Given the description of an element on the screen output the (x, y) to click on. 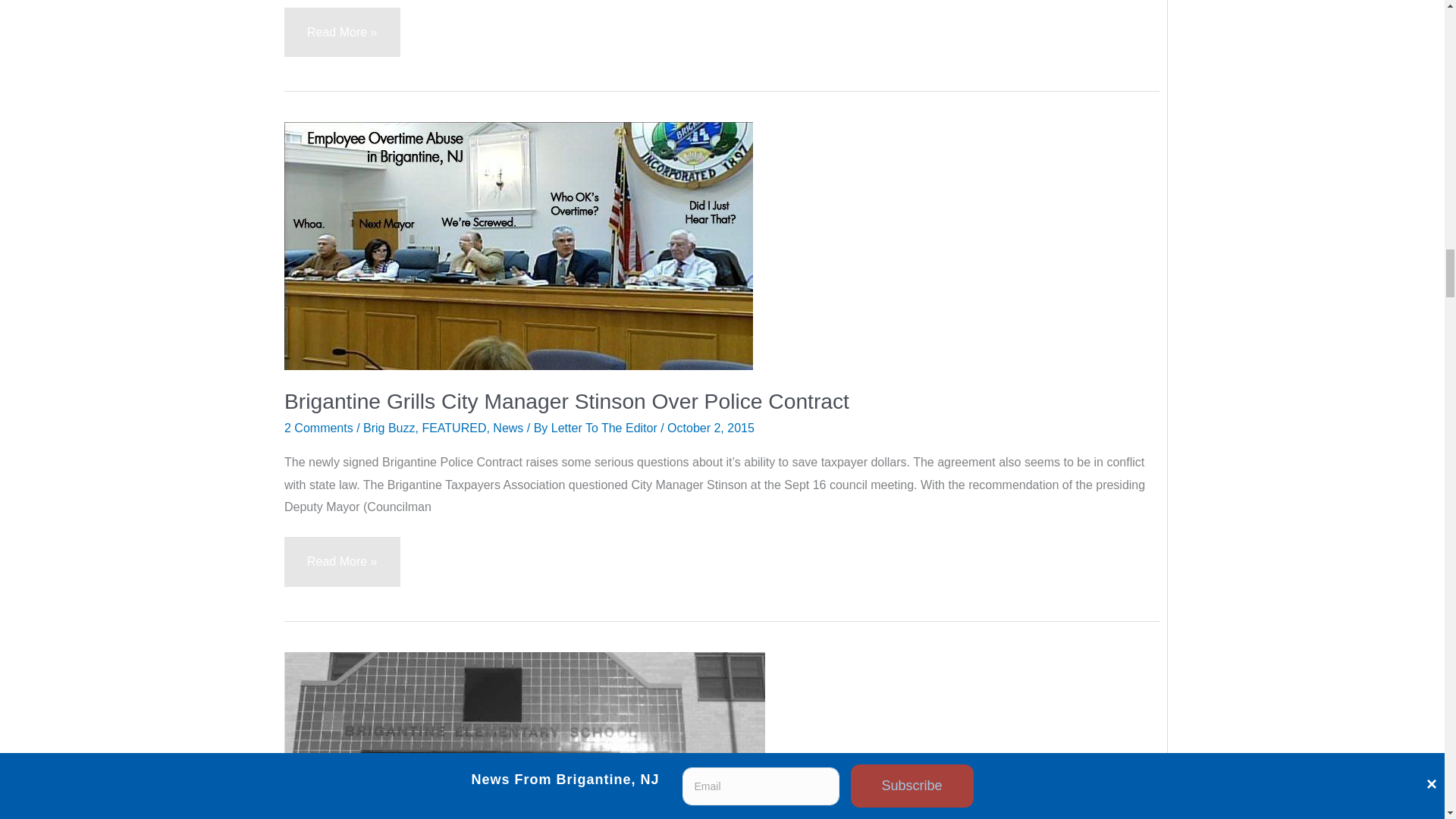
View all posts by Letter To The Editor (606, 427)
